Given the description of an element on the screen output the (x, y) to click on. 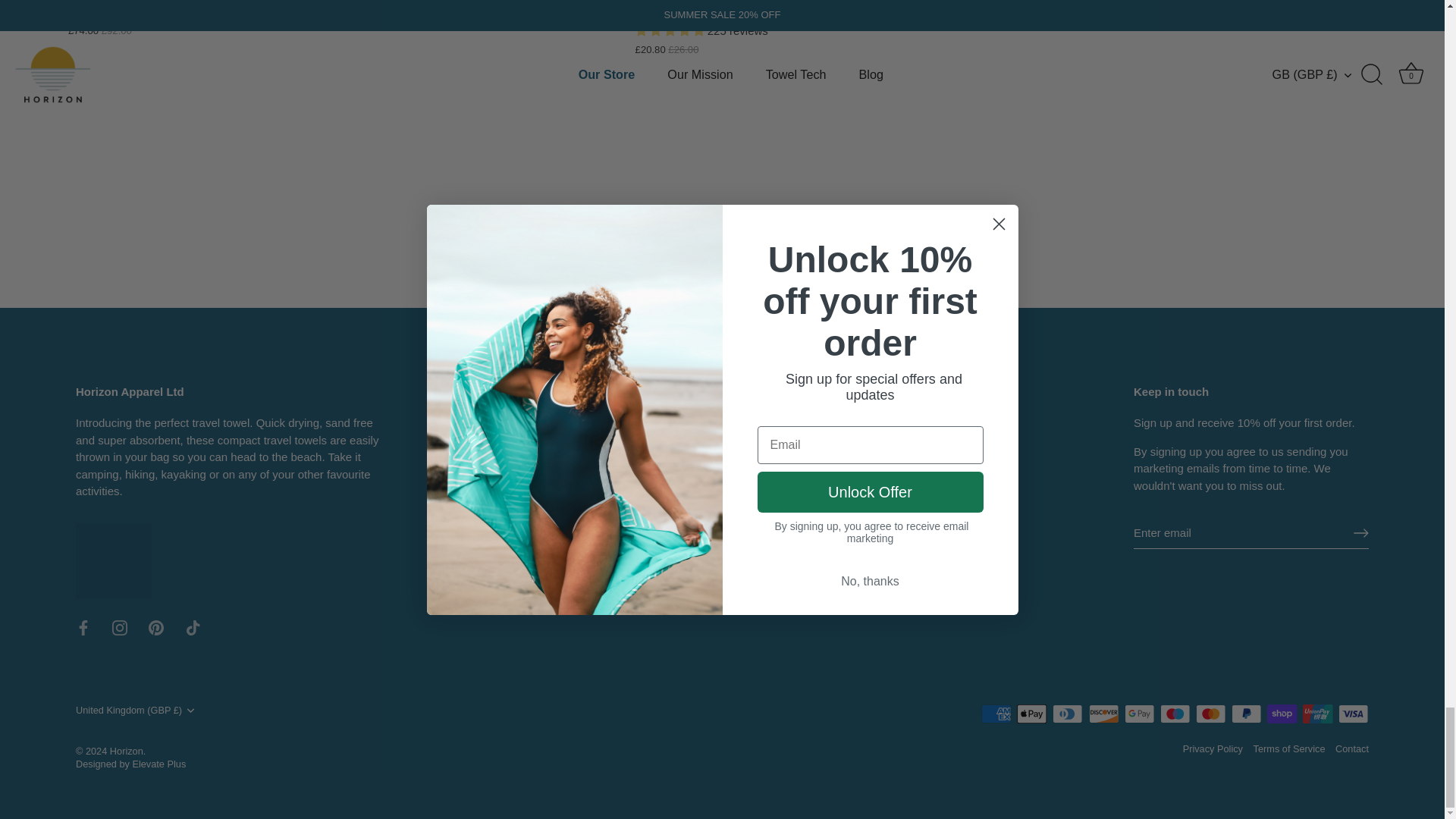
American Express (996, 713)
RIGHT ARROW LONG (1361, 532)
Discover (1104, 713)
Diners Club (1067, 713)
Pinterest (155, 627)
Instagram (120, 627)
Apple Pay (1031, 713)
